Given the description of an element on the screen output the (x, y) to click on. 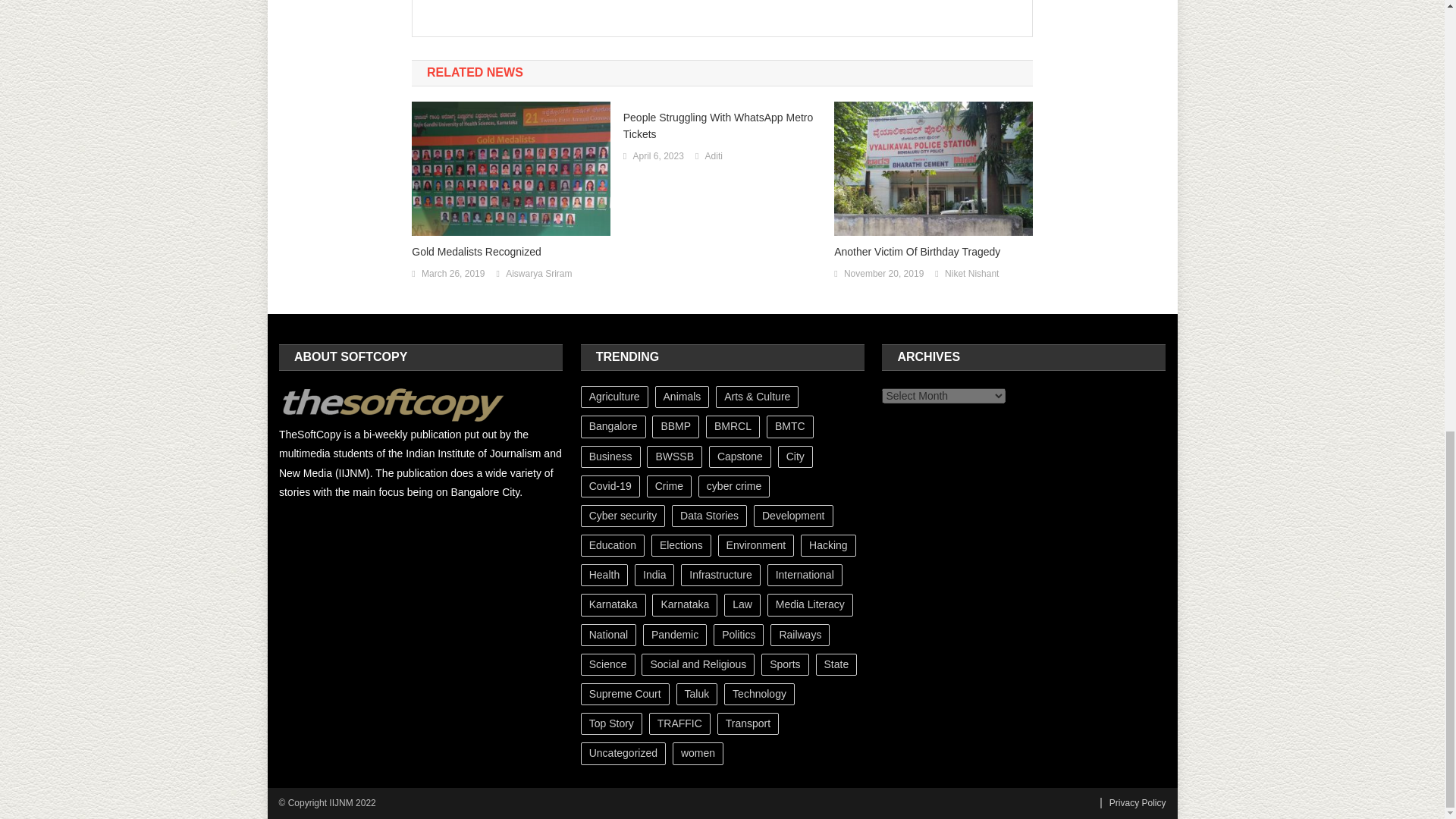
March 26, 2019 (453, 274)
Aiswarya Sriram (538, 274)
Gold Medalists Recognized (511, 251)
